Given the description of an element on the screen output the (x, y) to click on. 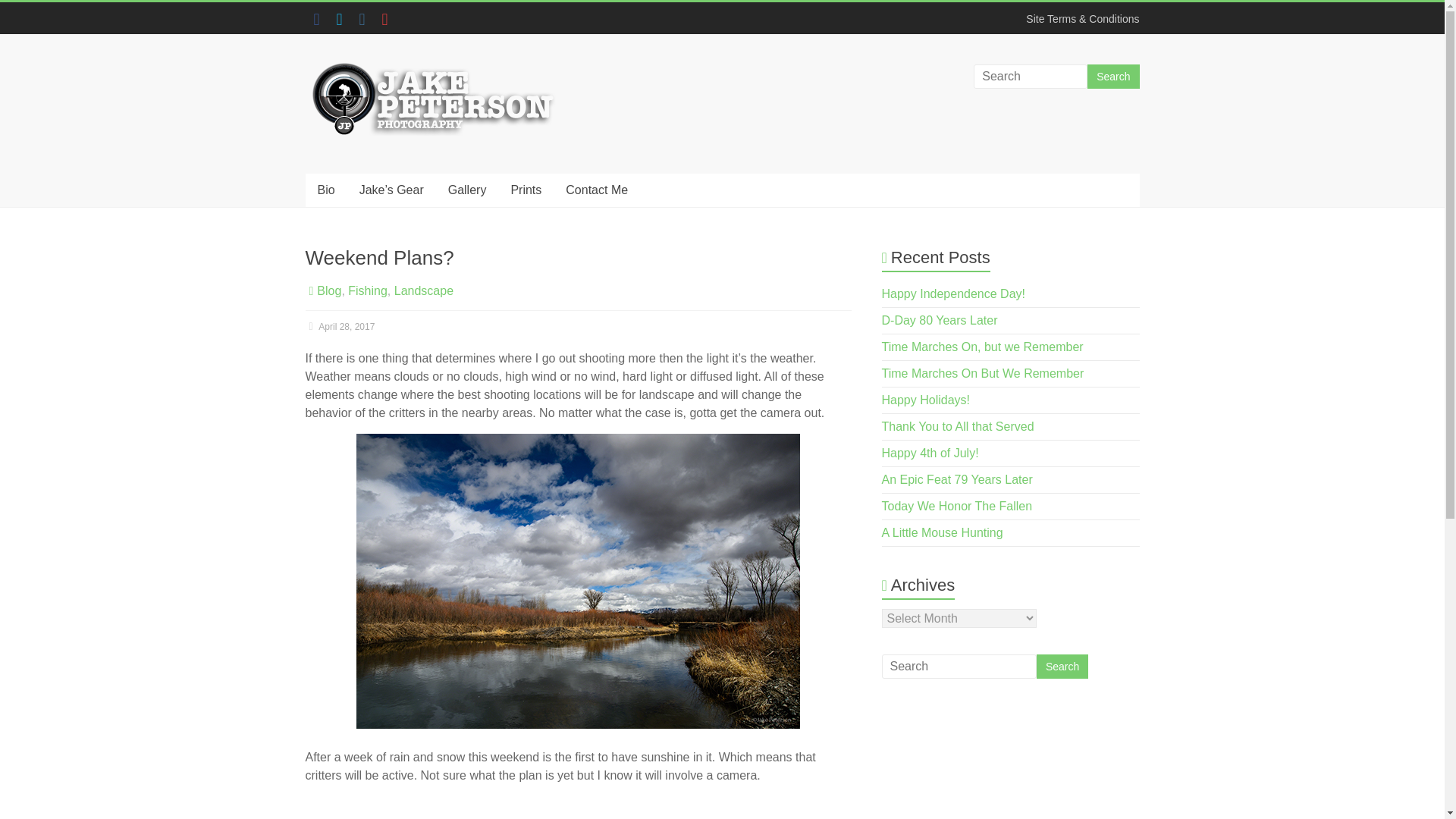
Search (1061, 666)
Time Marches On, but we Remember (982, 346)
Contact Me (596, 190)
Landscape (423, 290)
Gallery (467, 190)
Search (1112, 76)
Today We Honor The Fallen (957, 505)
A Little Mouse Hunting (942, 532)
Time Marches On But We Remember (983, 373)
Thank You to All that Served (957, 426)
D-Day 80 Years Later (939, 319)
Happy 4th of July! (930, 452)
Happy Holidays! (926, 399)
Search (1061, 666)
An Epic Feat 79 Years Later (957, 479)
